Given the description of an element on the screen output the (x, y) to click on. 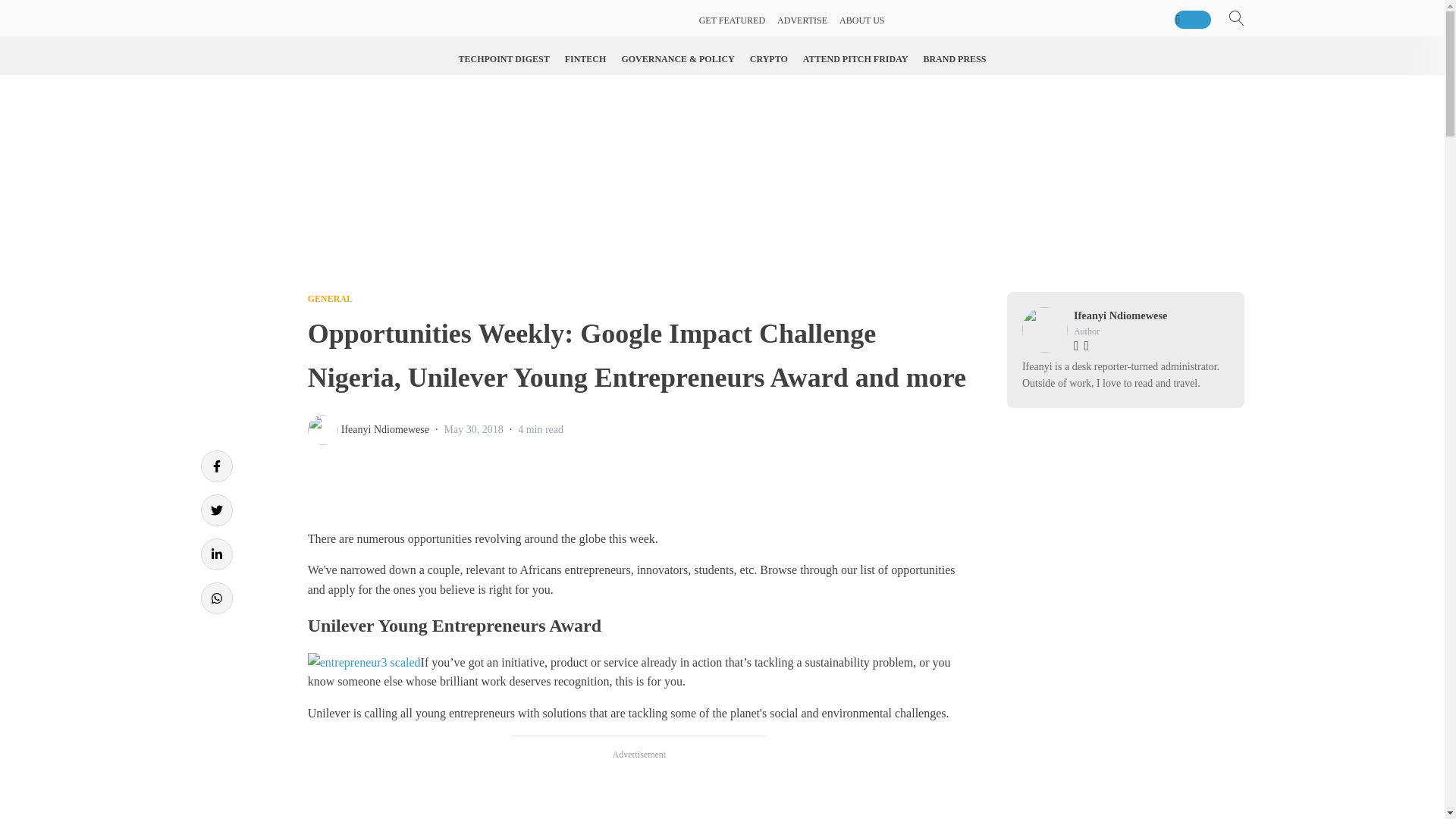
Share on Facebook (215, 466)
TECHPOINT DIGEST (504, 59)
Posts by Ifeanyi Ndiomewese (384, 429)
GENERAL (329, 298)
Share on LinkedIn (215, 554)
BRAND PRESS (953, 59)
ABOUT US (861, 20)
FINTECH (585, 59)
ATTEND PITCH FRIDAY (854, 59)
ADVERTISE (802, 20)
GET FEATURED (731, 20)
Ifeanyi Ndiomewese (384, 429)
Share on Twitter (215, 510)
CRYPTO (768, 59)
